Given the description of an element on the screen output the (x, y) to click on. 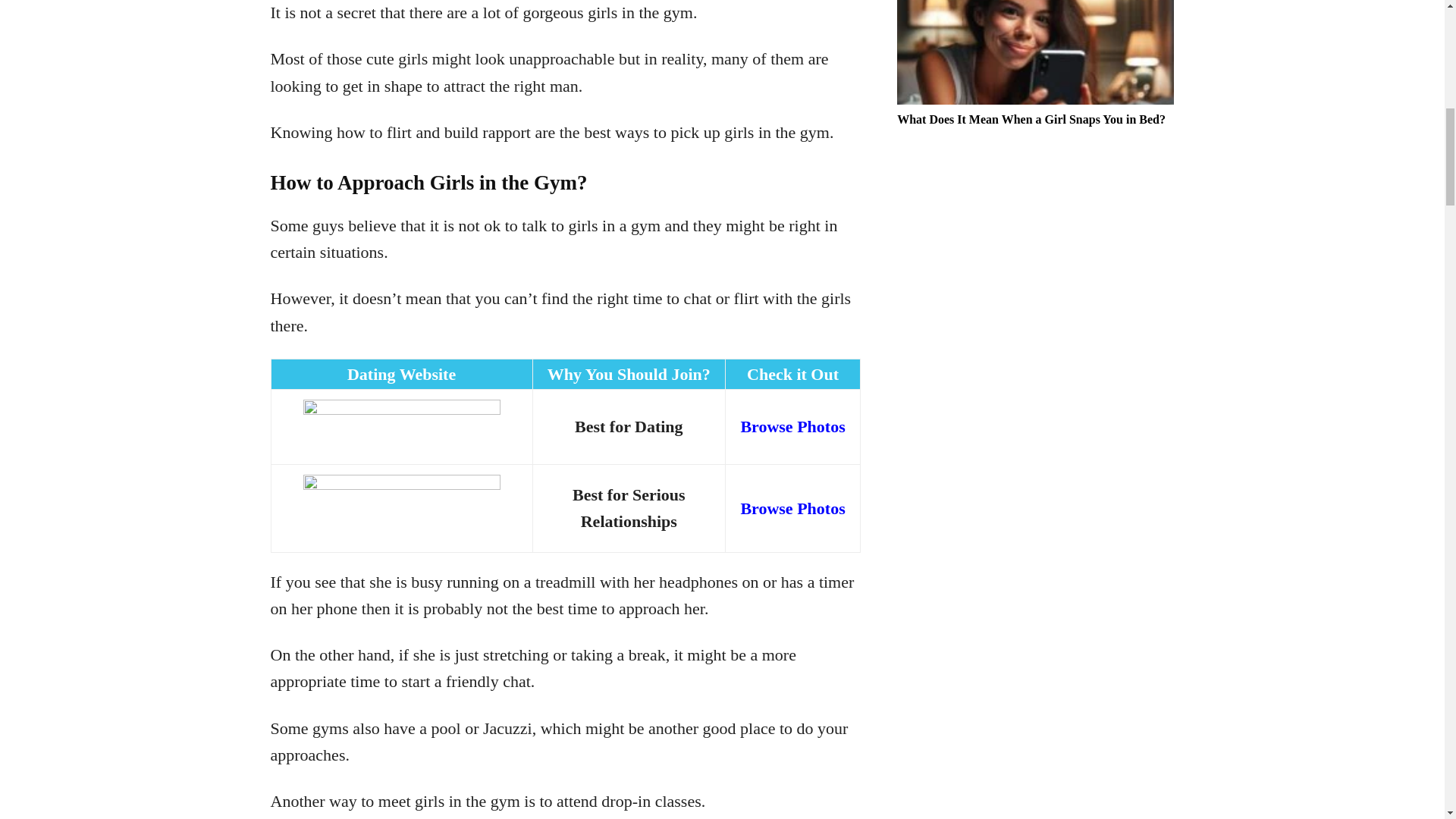
Browse Photos (791, 507)
Browse Photos (791, 425)
What Does It Mean When a Girl Snaps You in Bed? (1031, 119)
What Does It Mean When a Girl Snaps You in Bed? (1031, 119)
What Does It Mean When a Girl Snaps You in Bed? (1034, 52)
